Given the description of an element on the screen output the (x, y) to click on. 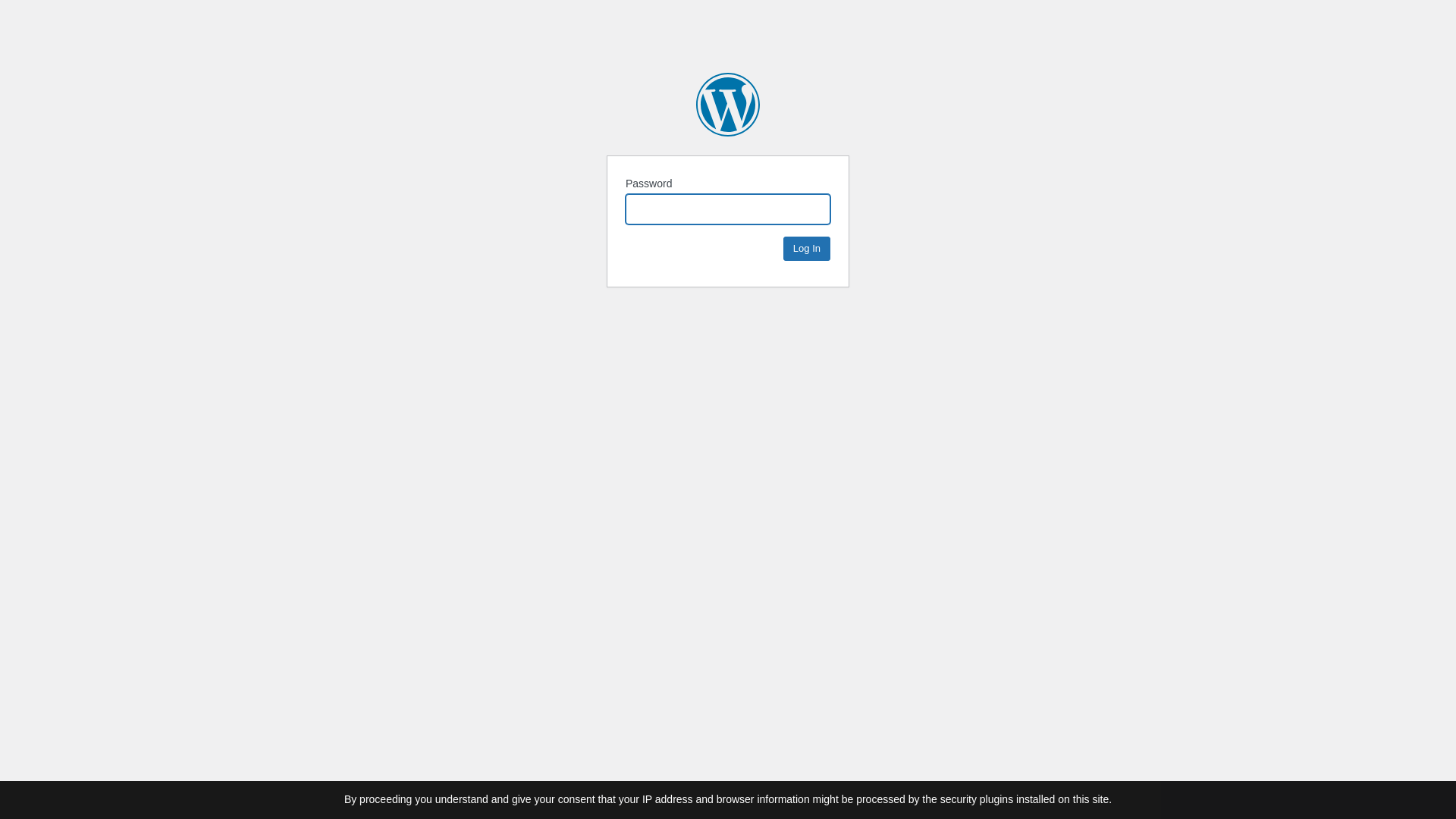
Log In Element type: text (806, 248)
Automotive Properties REIT Element type: text (727, 104)
